Given the description of an element on the screen output the (x, y) to click on. 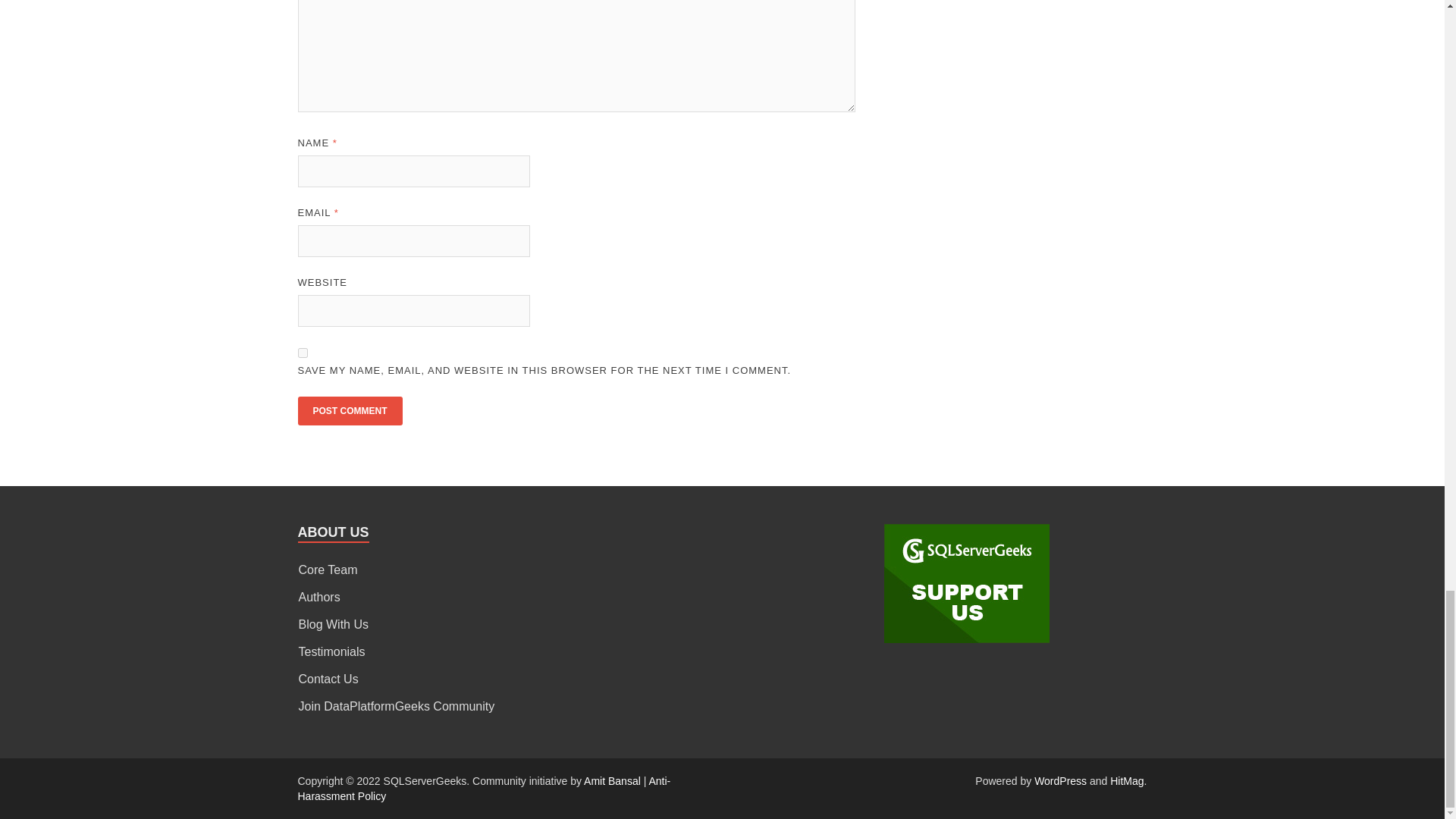
yes (302, 352)
Post Comment (349, 410)
